Given the description of an element on the screen output the (x, y) to click on. 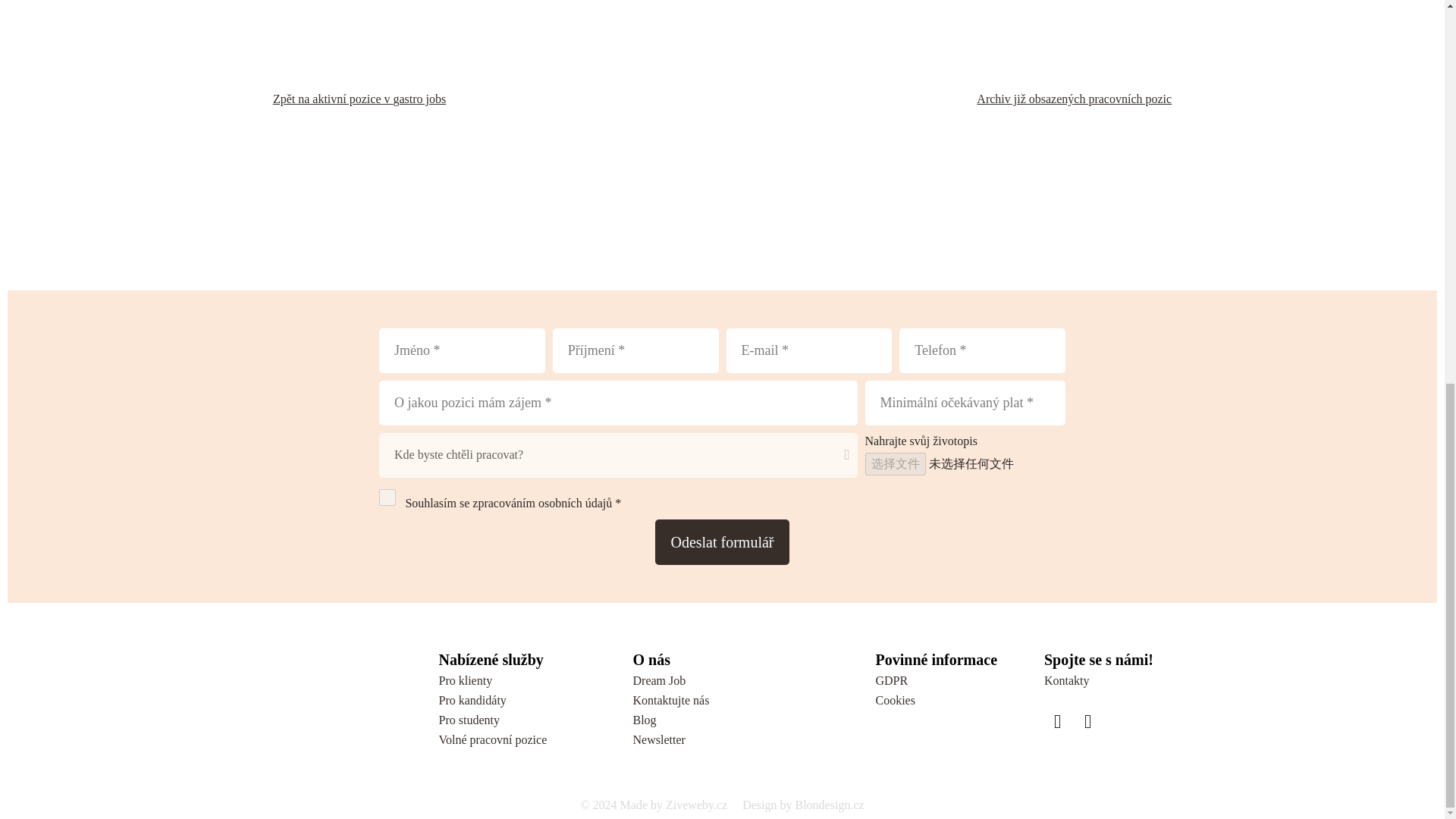
Dream Job (658, 680)
gastro jobs (419, 98)
Design by Blondesign.cz (802, 804)
GDPR (891, 680)
Pro studenty (468, 719)
on (387, 497)
Cookies (894, 699)
Kontakty (1066, 680)
Newsletter (657, 739)
Blog (643, 719)
